Given the description of an element on the screen output the (x, y) to click on. 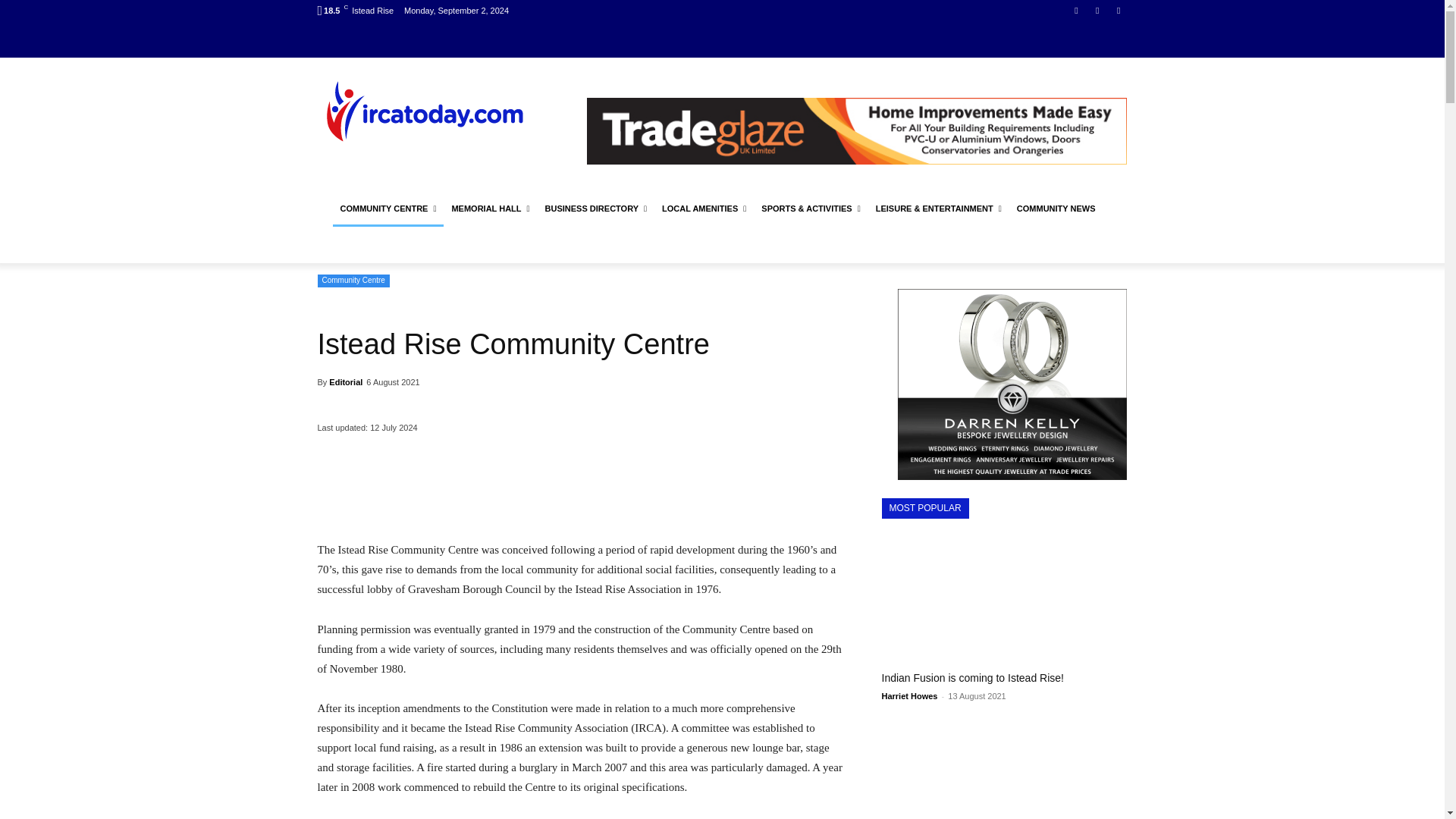
Youtube (1117, 9)
Twitter (1097, 9)
Facebook (1075, 9)
